Given the description of an element on the screen output the (x, y) to click on. 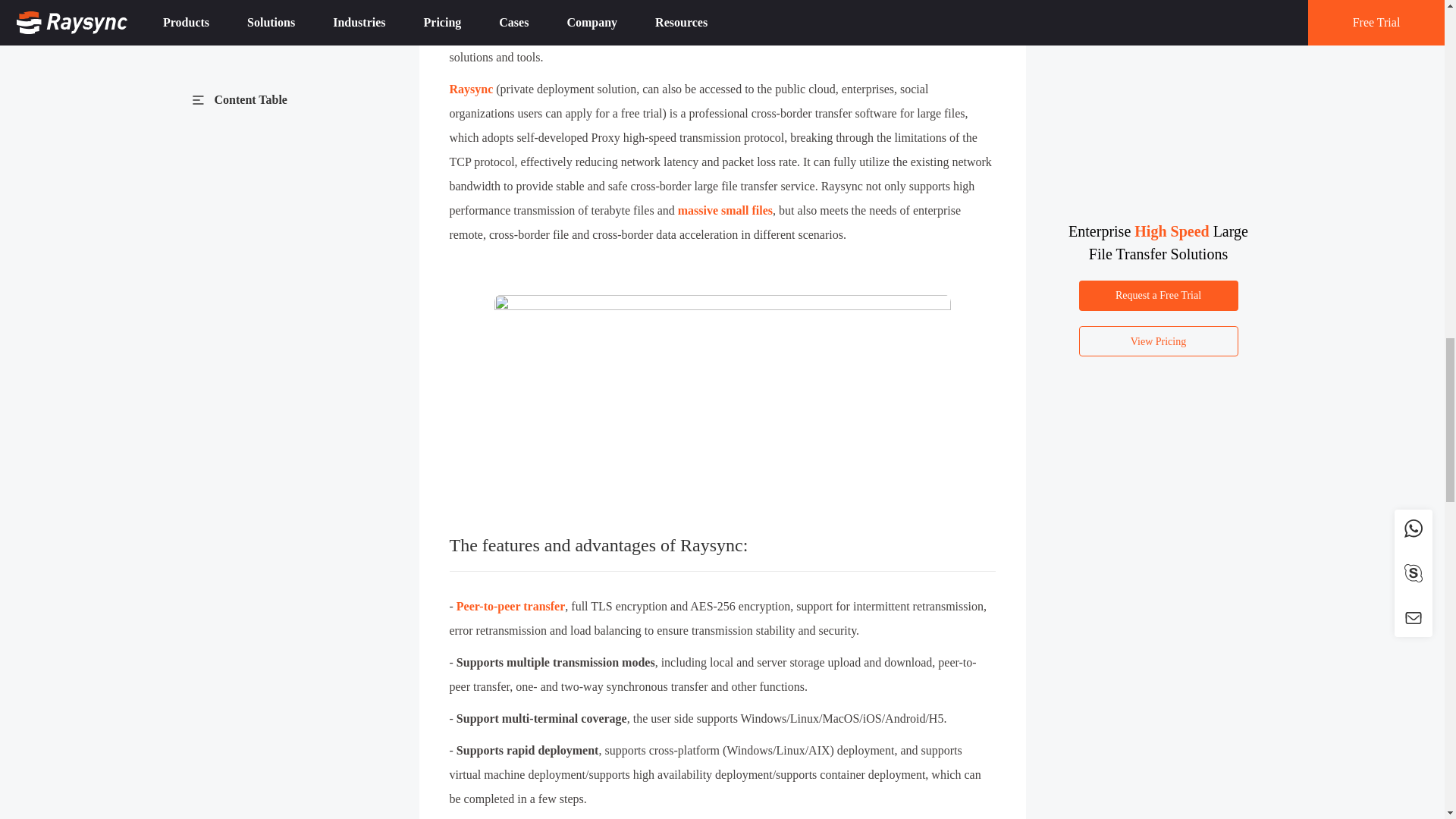
Peer-to-peer transfer (510, 605)
Raysync (470, 88)
massive small files (725, 210)
